Given the description of an element on the screen output the (x, y) to click on. 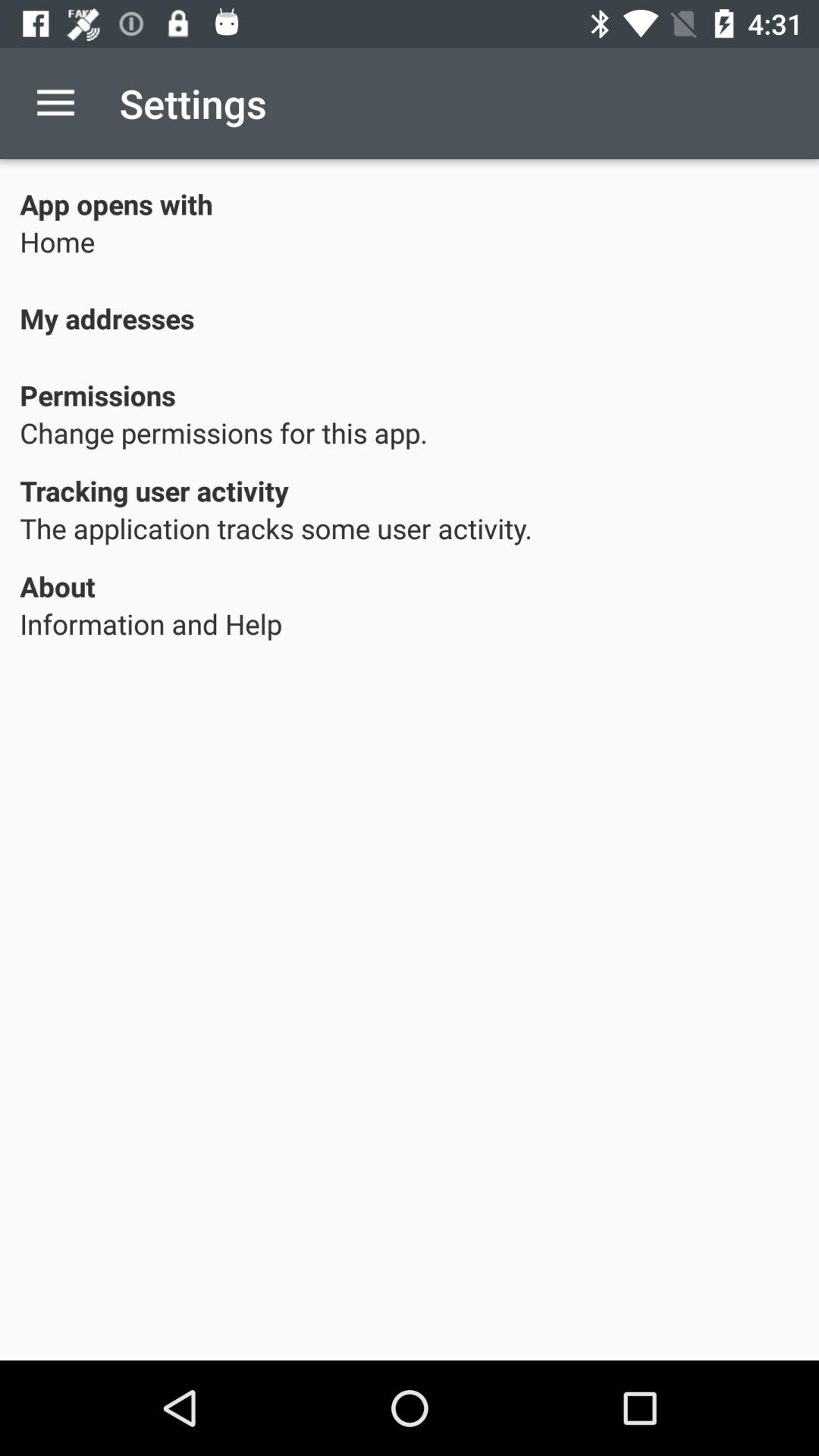
tap the item next to the settings (55, 103)
